Given the description of an element on the screen output the (x, y) to click on. 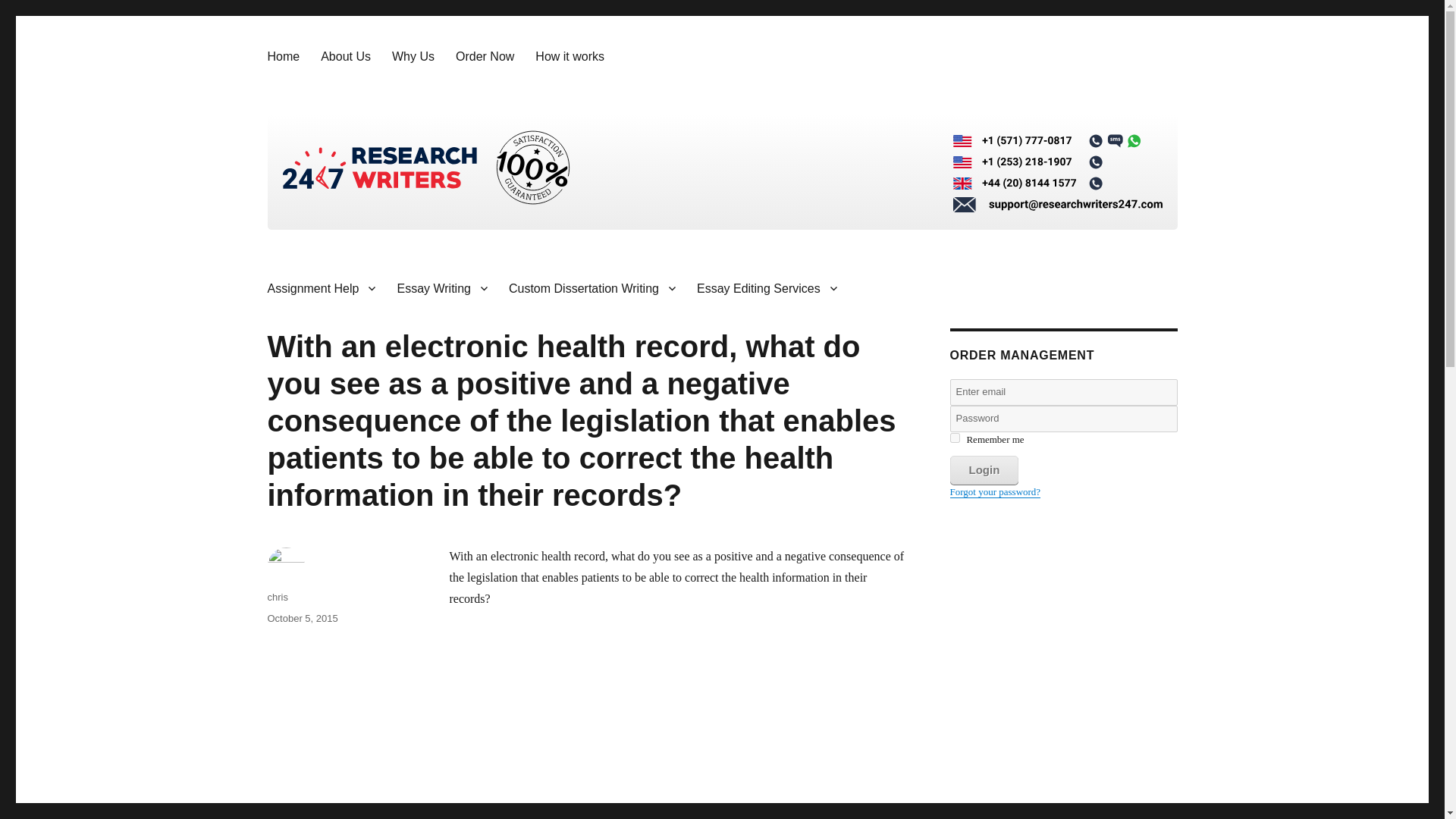
click to Login (983, 469)
About Us (345, 56)
on (954, 438)
Essay Editing Services (766, 287)
Assignment Help (320, 287)
Recover password (995, 491)
Order Now (484, 56)
Custom Dissertation Writing (591, 287)
Essay Writing (441, 287)
Why Us (413, 56)
